Given the description of an element on the screen output the (x, y) to click on. 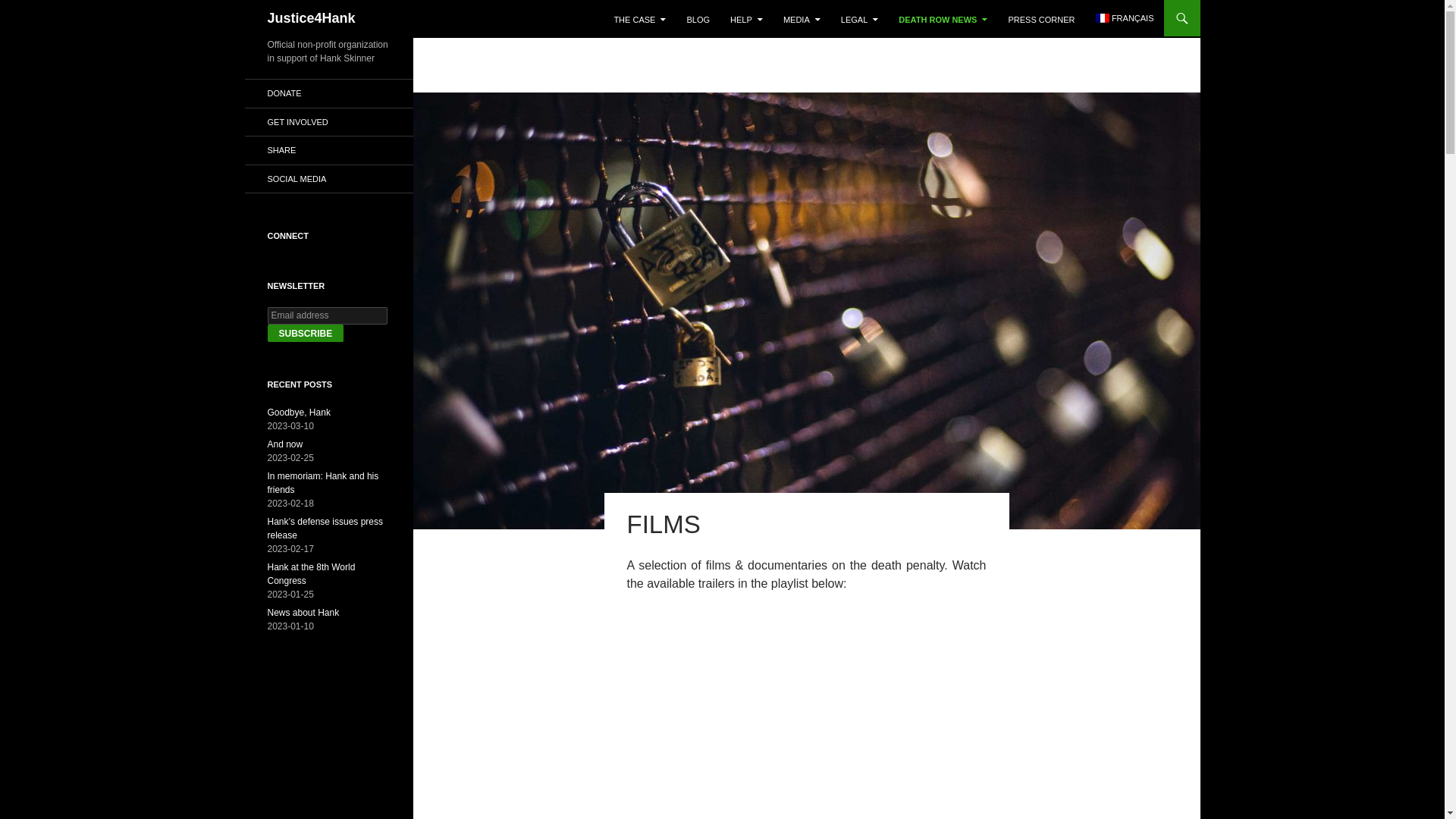
HELP (745, 19)
Justice4Hank (310, 18)
PRESS CORNER (1040, 19)
LEGAL (858, 19)
Subscribe (304, 333)
MEDIA (801, 19)
DONATE (328, 93)
BLOG (698, 19)
DEATH ROW NEWS (942, 19)
THE CASE (639, 19)
